Given the description of an element on the screen output the (x, y) to click on. 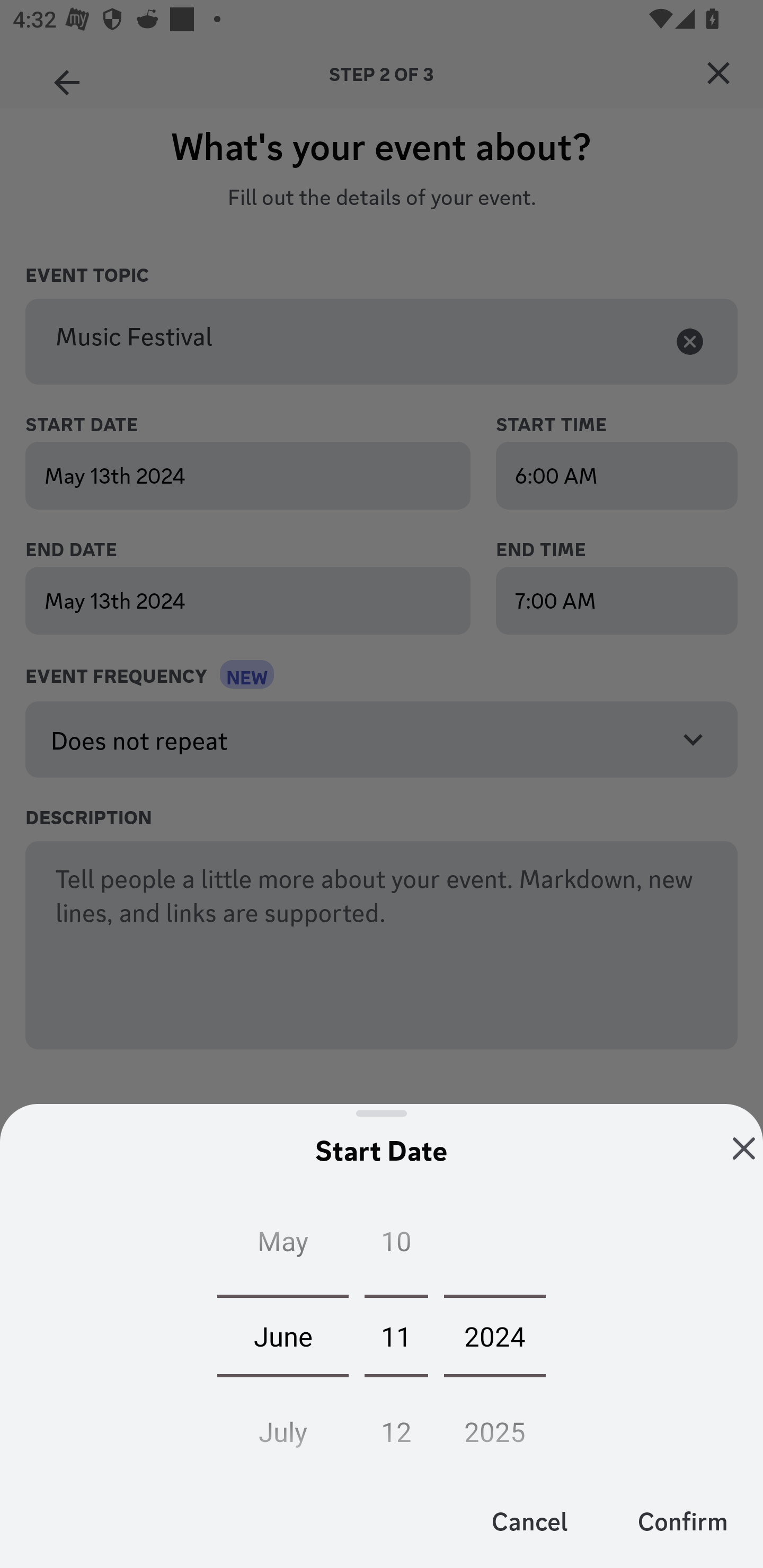
Close (743, 1148)
May (282, 1245)
10 (396, 1245)
June (282, 1335)
11 (396, 1335)
2024 (494, 1335)
July (282, 1425)
12 (396, 1425)
2025 (494, 1425)
Cancel (529, 1520)
Confirm (682, 1520)
